Given the description of an element on the screen output the (x, y) to click on. 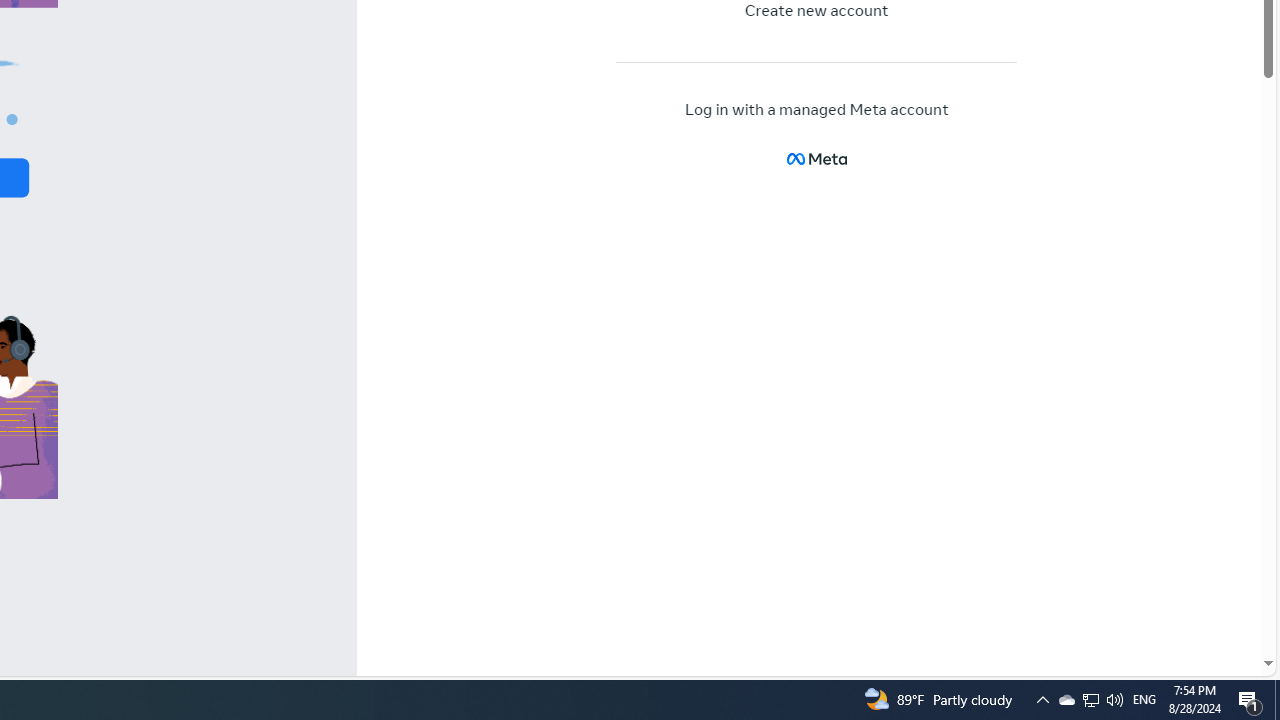
Log in with a managed Meta account (817, 110)
Meta logo (816, 157)
